Given the description of an element on the screen output the (x, y) to click on. 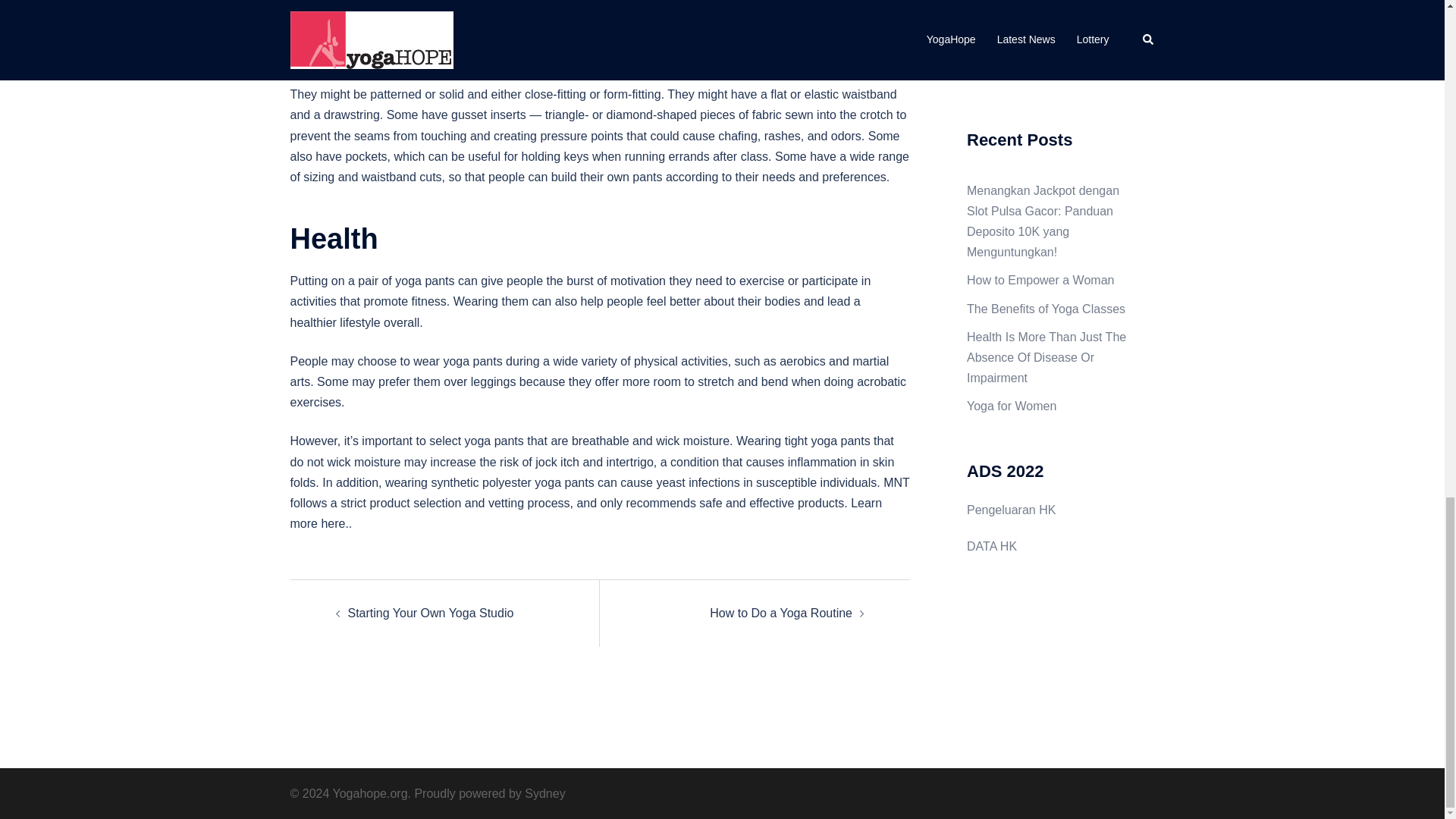
How to Do a Yoga Routine (780, 612)
Starting Your Own Yoga Studio (430, 612)
